Given the description of an element on the screen output the (x, y) to click on. 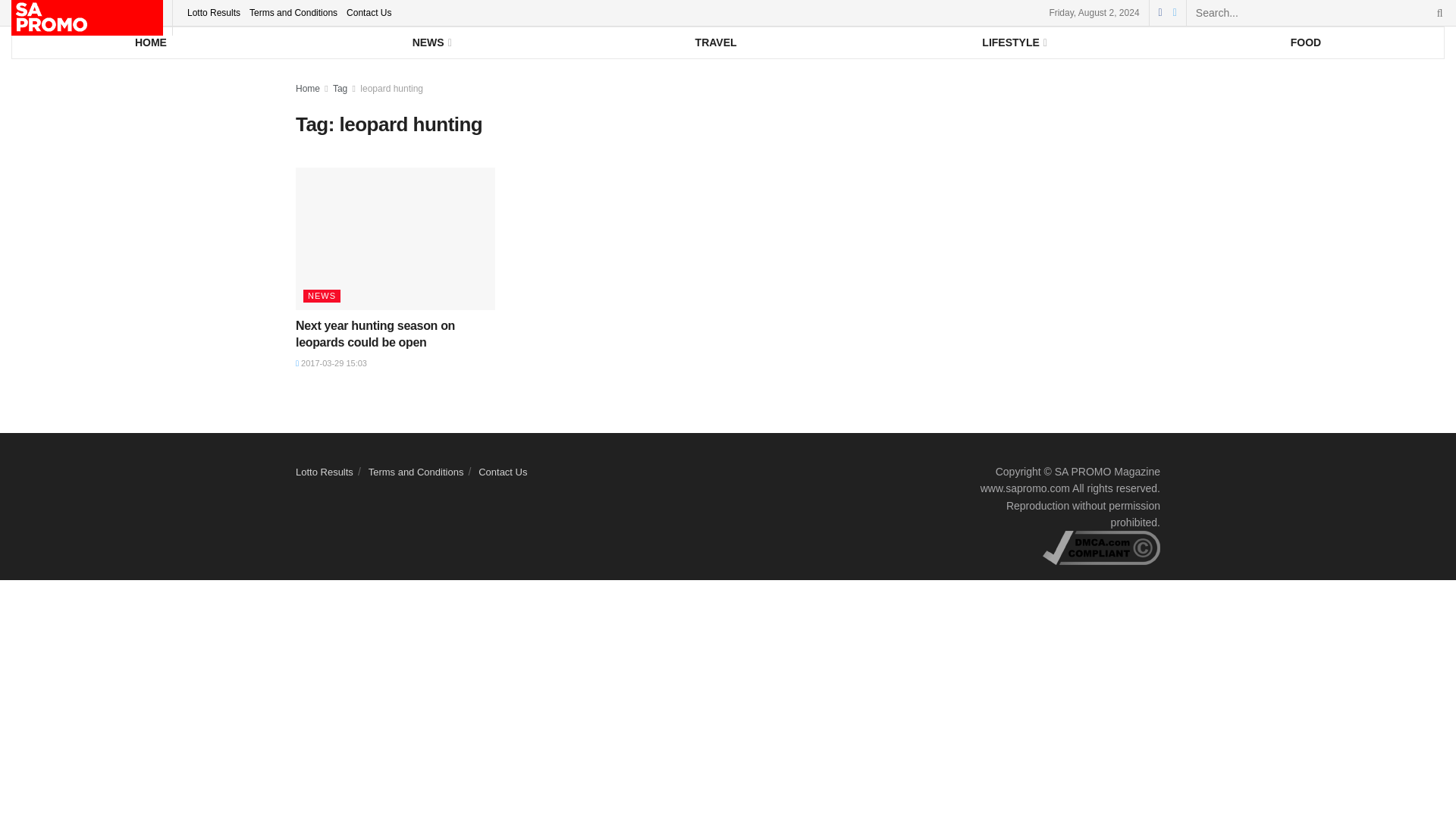
NEWS (430, 42)
TRAVEL (716, 42)
HOME (150, 42)
FOOD (1305, 42)
DMCA Compliance information for sapromo.com (1101, 547)
LIFESTYLE (1013, 42)
Lotto Results (213, 12)
Contact Us (368, 12)
Terms and Conditions (292, 12)
